Given the description of an element on the screen output the (x, y) to click on. 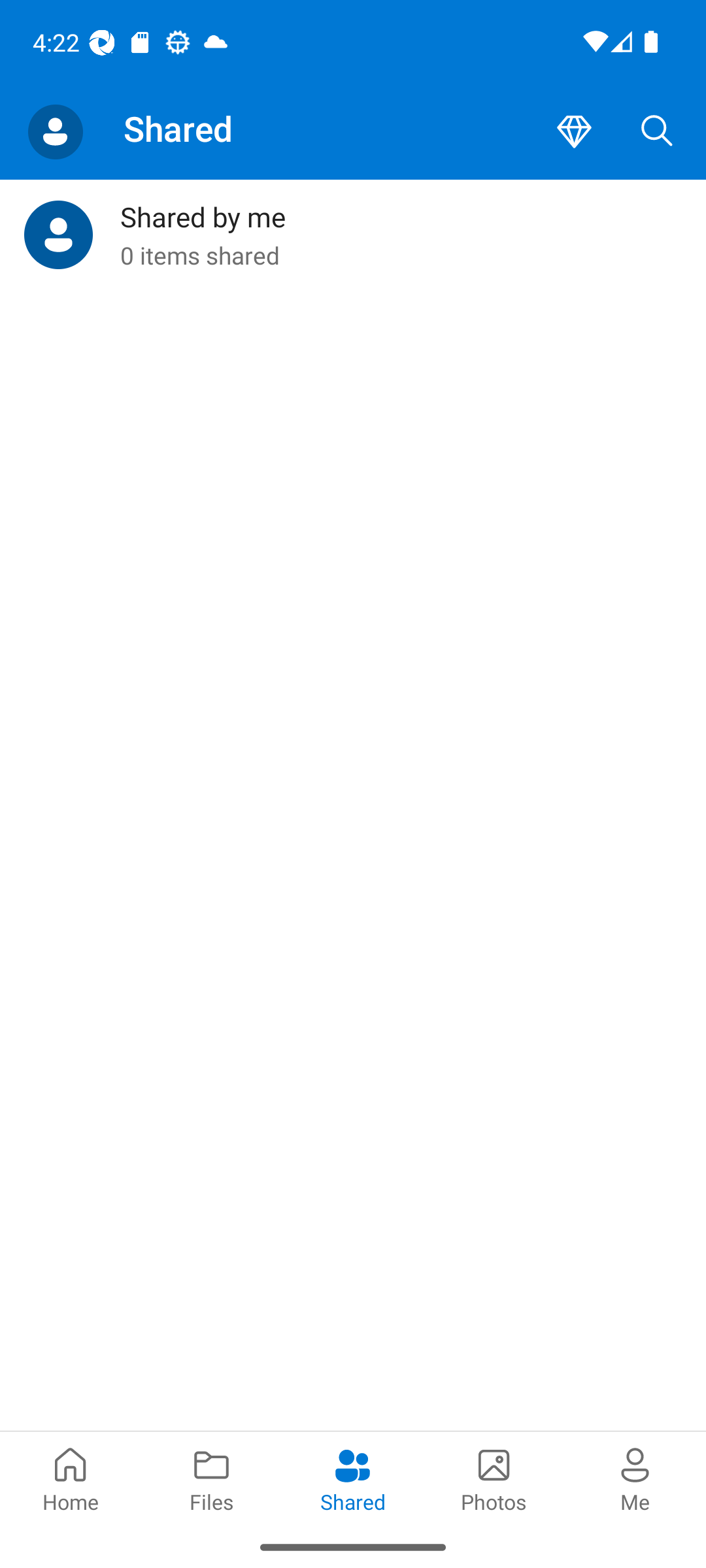
Account switcher (55, 131)
Premium button (574, 131)
Search button (656, 131)
0 Shared by me 0 items shared (353, 235)
Home pivot Home (70, 1478)
Files pivot Files (211, 1478)
Photos pivot Photos (493, 1478)
Me pivot Me (635, 1478)
